Given the description of an element on the screen output the (x, y) to click on. 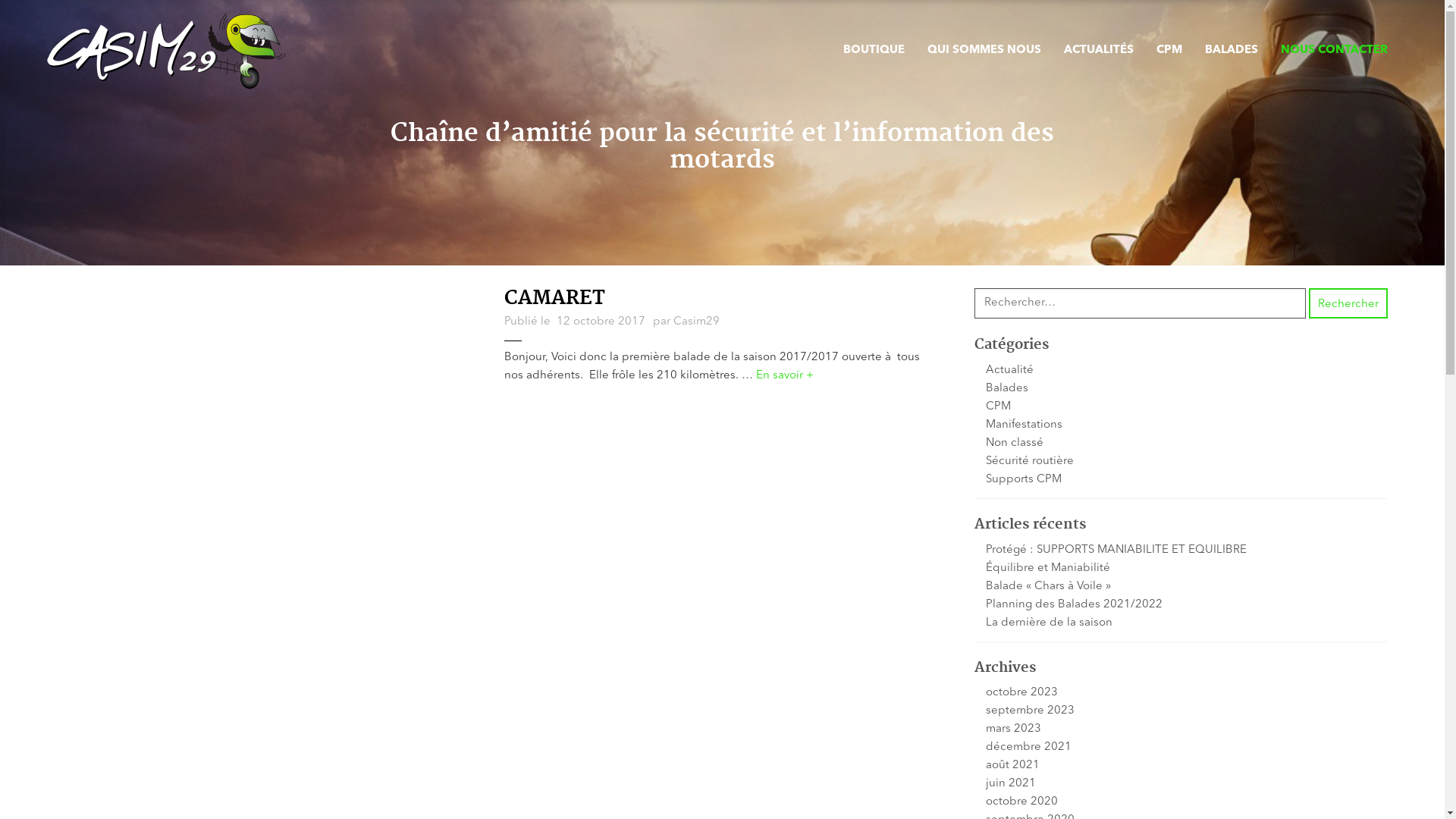
Manifestations Element type: text (1023, 424)
CPM Element type: text (997, 406)
En savoir + Element type: text (784, 375)
Supports CPM Element type: text (1023, 479)
BOUTIQUE Element type: text (873, 50)
NOUS CONTACTER Element type: text (1334, 50)
QUI SOMMES NOUS Element type: text (984, 50)
septembre 2023 Element type: text (1029, 710)
octobre 2023 Element type: text (1021, 692)
CPM Element type: text (1169, 50)
Casim29 Element type: text (696, 320)
octobre 2020 Element type: text (1021, 801)
juin 2021 Element type: text (1010, 783)
Rechercher Element type: text (1347, 303)
CAMARET Element type: text (554, 298)
Planning des Balades 2021/2022 Element type: text (1073, 604)
Balades Element type: text (1006, 388)
mars 2023 Element type: text (1013, 728)
BALADES Element type: text (1231, 50)
